Given the description of an element on the screen output the (x, y) to click on. 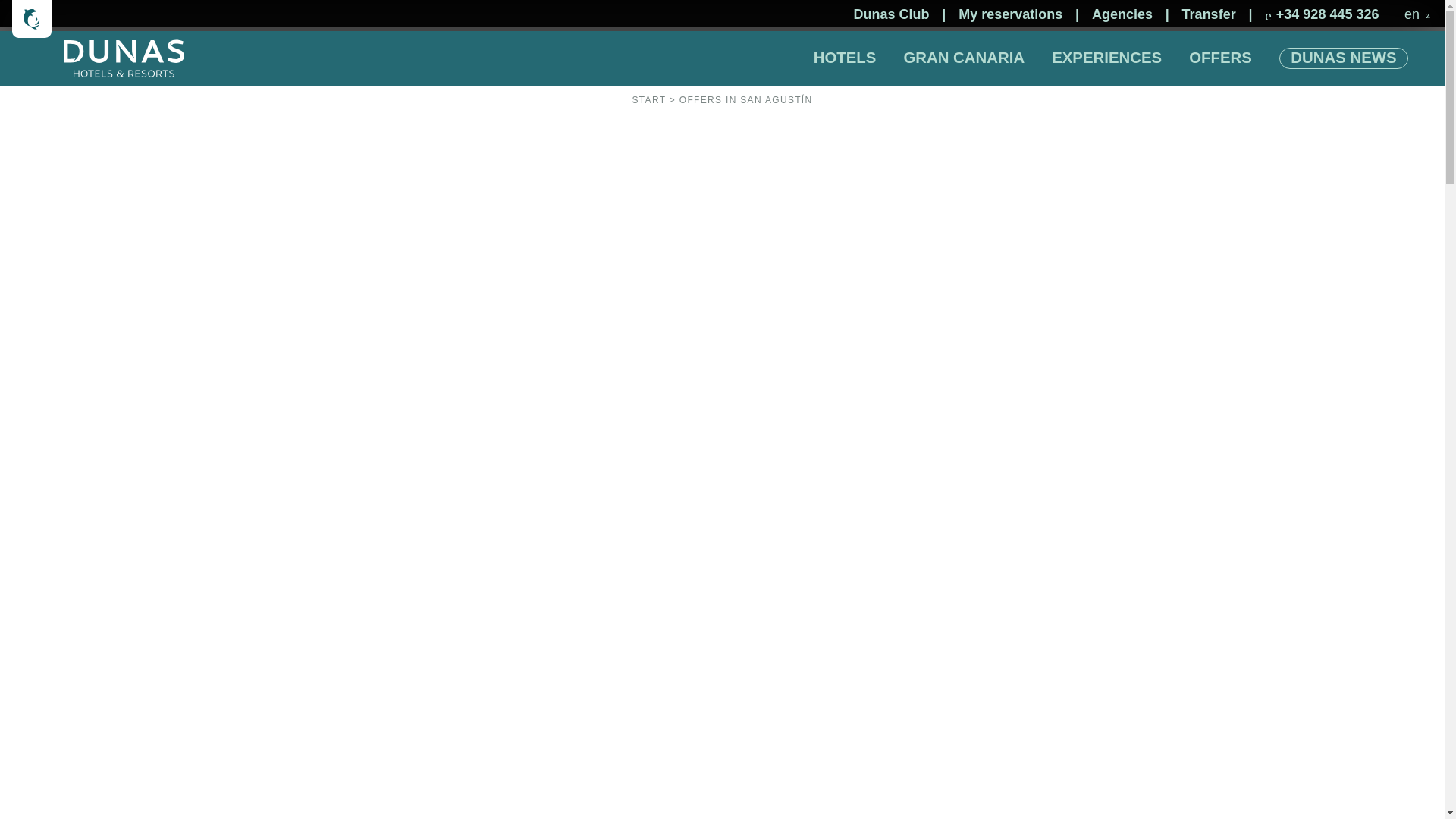
Transfer (1209, 14)
Hotels (844, 58)
Agencies (1122, 14)
My reservations (1010, 14)
HOTELS (844, 58)
My reservations (1010, 14)
Experiences (1106, 58)
Offers (1220, 58)
Gran Canaria (963, 58)
Dunas Club (891, 14)
